Given the description of an element on the screen output the (x, y) to click on. 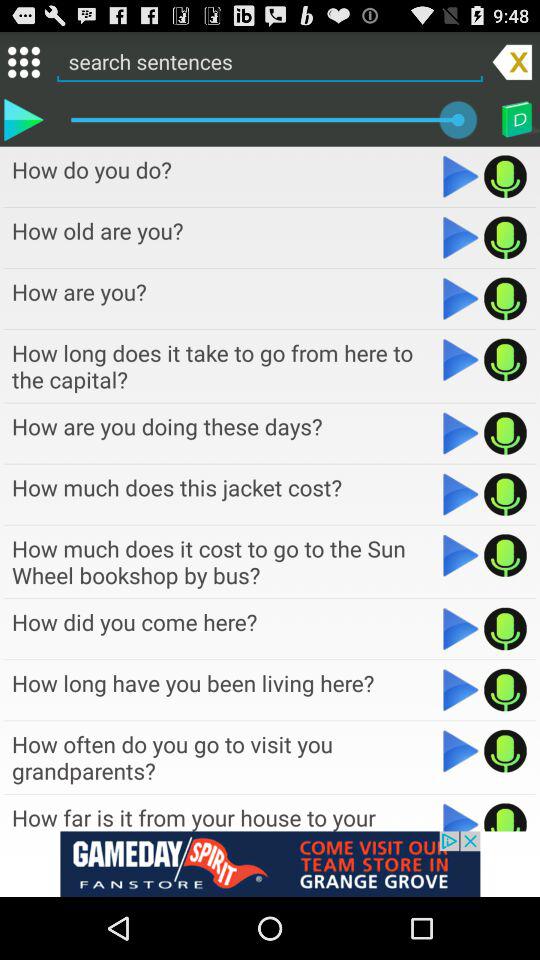
recording option (505, 176)
